Given the description of an element on the screen output the (x, y) to click on. 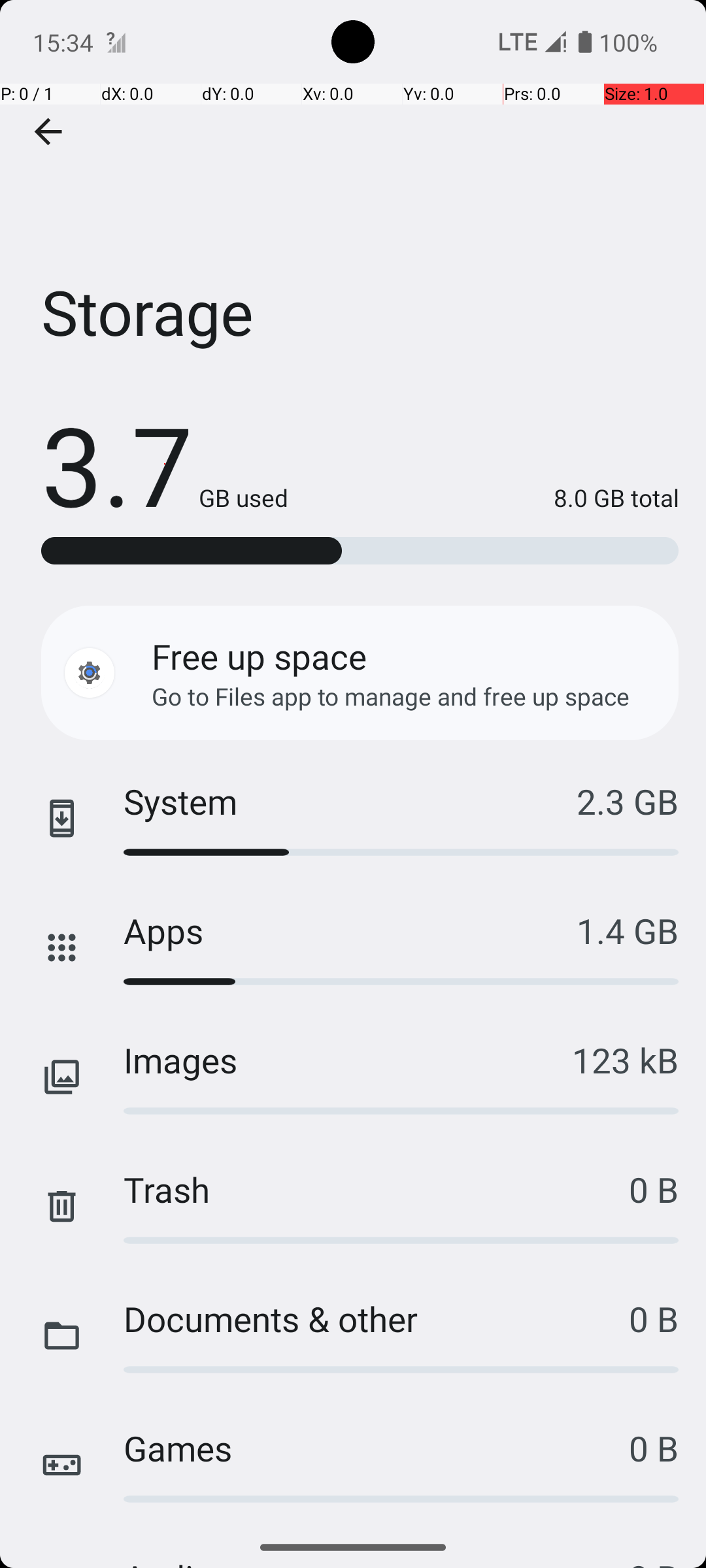
3.7 GB used Element type: android.widget.TextView (164, 463)
2.3 GB Element type: android.widget.TextView (627, 801)
1.4 GB Element type: android.widget.TextView (627, 930)
123 kB Element type: android.widget.TextView (624, 1059)
